Given the description of an element on the screen output the (x, y) to click on. 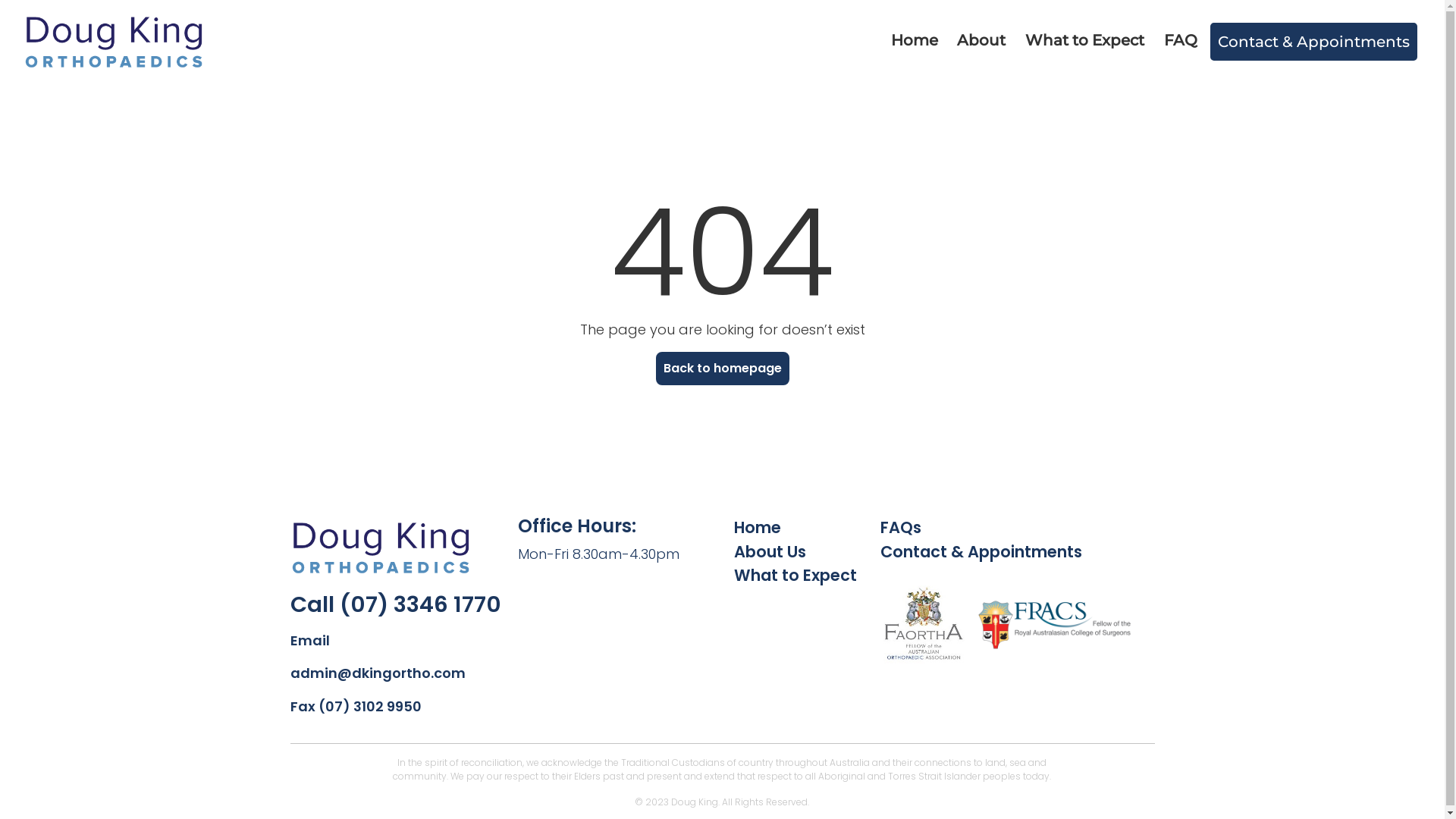
What to Expect Element type: text (1084, 41)
Home Element type: text (914, 41)
About Us Element type: text (770, 550)
(07) 3346 1770 Element type: text (420, 604)
Home Element type: text (757, 527)
About Element type: text (980, 41)
admin@dkingortho.com Element type: text (376, 672)
Back to homepage Element type: text (721, 368)
Contact & Appointments Element type: text (1313, 41)
img2 Element type: text (1050, 623)
FAQs Element type: text (900, 527)
What to Expect Element type: text (795, 575)
Contact & Appointments Element type: text (981, 550)
FAQ Element type: text (1180, 41)
img1 Element type: text (922, 623)
(07) 3102 9950 Element type: text (369, 705)
